Given the description of an element on the screen output the (x, y) to click on. 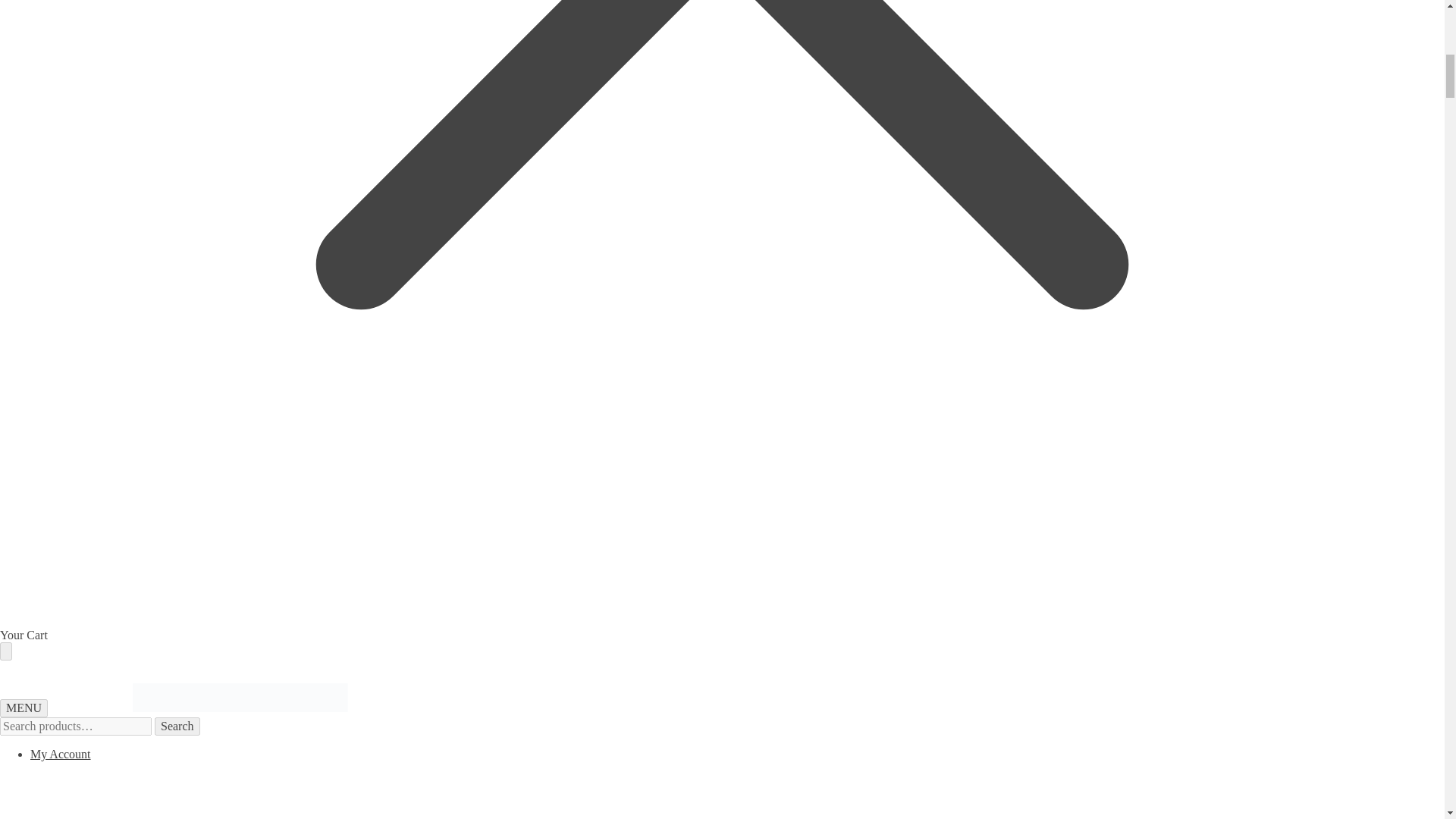
My Account (458, 783)
Search (177, 726)
MENU (24, 708)
